Given the description of an element on the screen output the (x, y) to click on. 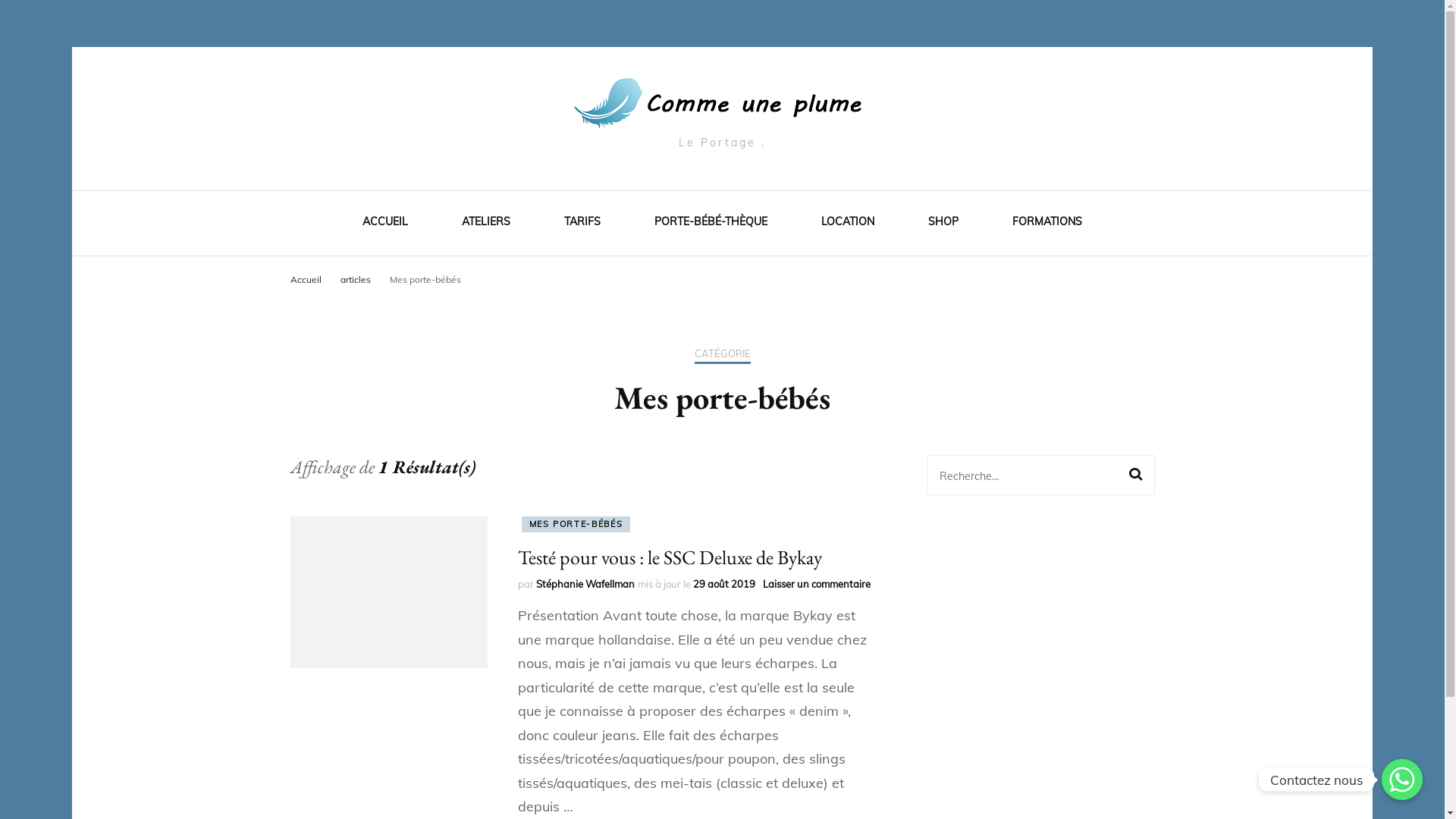
TARIFS Element type: text (582, 224)
ATELIERS Element type: text (485, 224)
FORMATIONS Element type: text (1047, 224)
Contactez nous Element type: text (1401, 779)
ACCUEIL Element type: text (384, 224)
articles Element type: text (355, 278)
SHOP Element type: text (943, 224)
Rechercher Element type: text (1135, 473)
Accueil Element type: text (304, 278)
LOCATION Element type: text (847, 224)
